Given the description of an element on the screen output the (x, y) to click on. 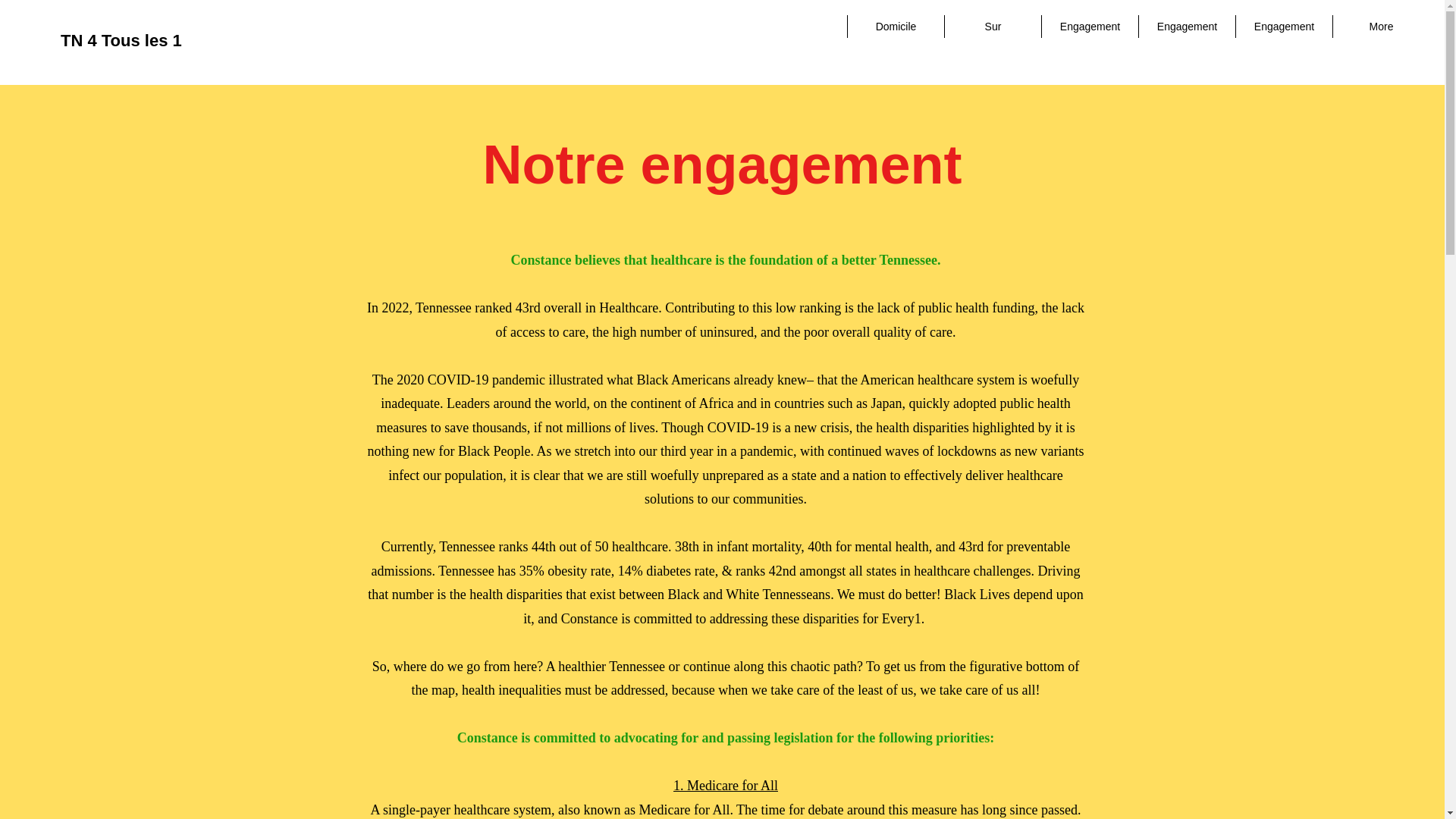
Domicile (895, 26)
TN 4 Tous les 1 (121, 40)
Sur (992, 26)
Engagement (1186, 26)
Engagement (1283, 26)
Engagement (1089, 26)
